Given the description of an element on the screen output the (x, y) to click on. 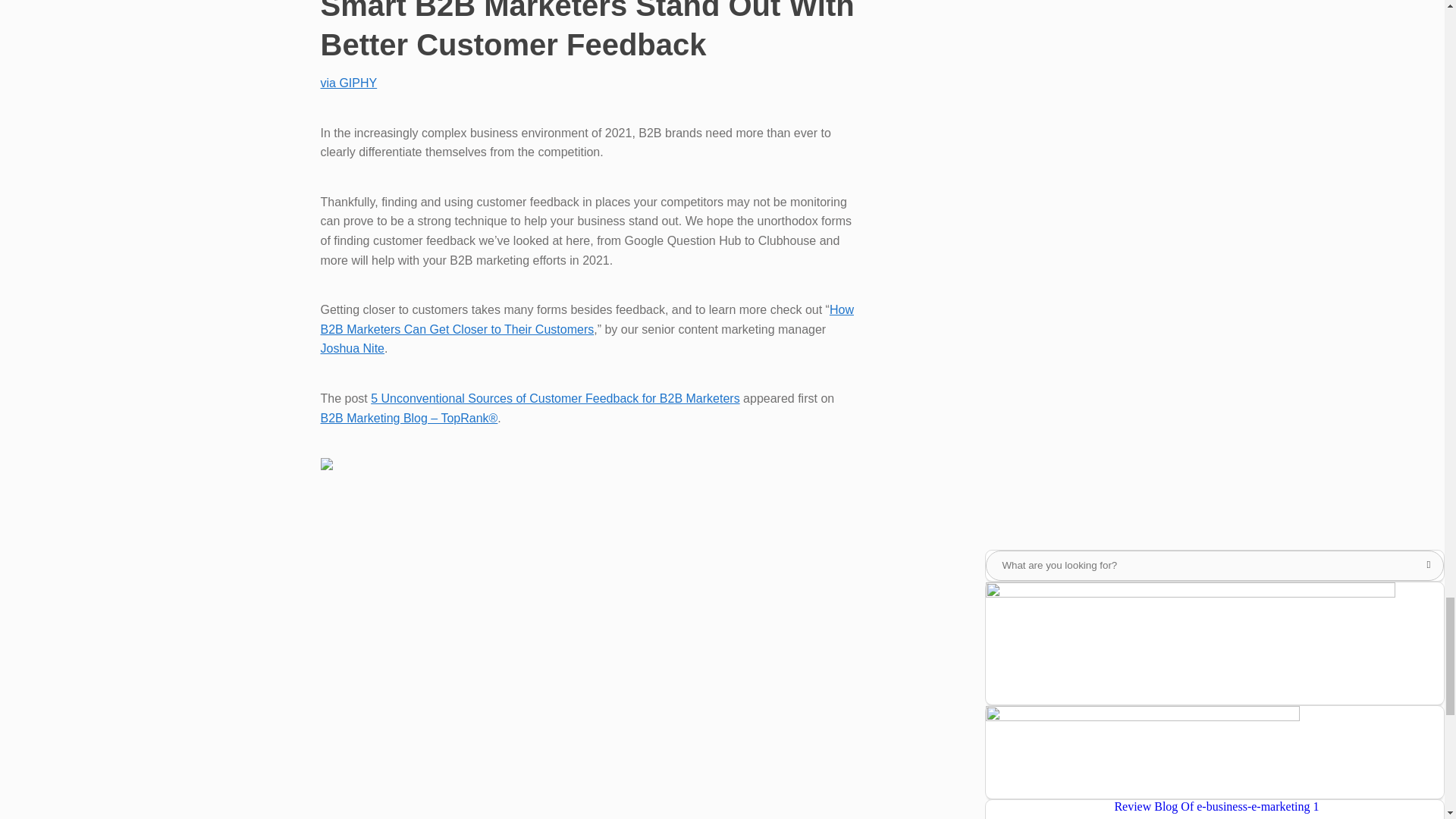
How B2B Marketers Can Get Closer to Their Customers (586, 319)
Joshua Nite (352, 348)
via GIPHY (348, 82)
Review Blog Of e-business-e-marketing 1 (1216, 806)
